Given the description of an element on the screen output the (x, y) to click on. 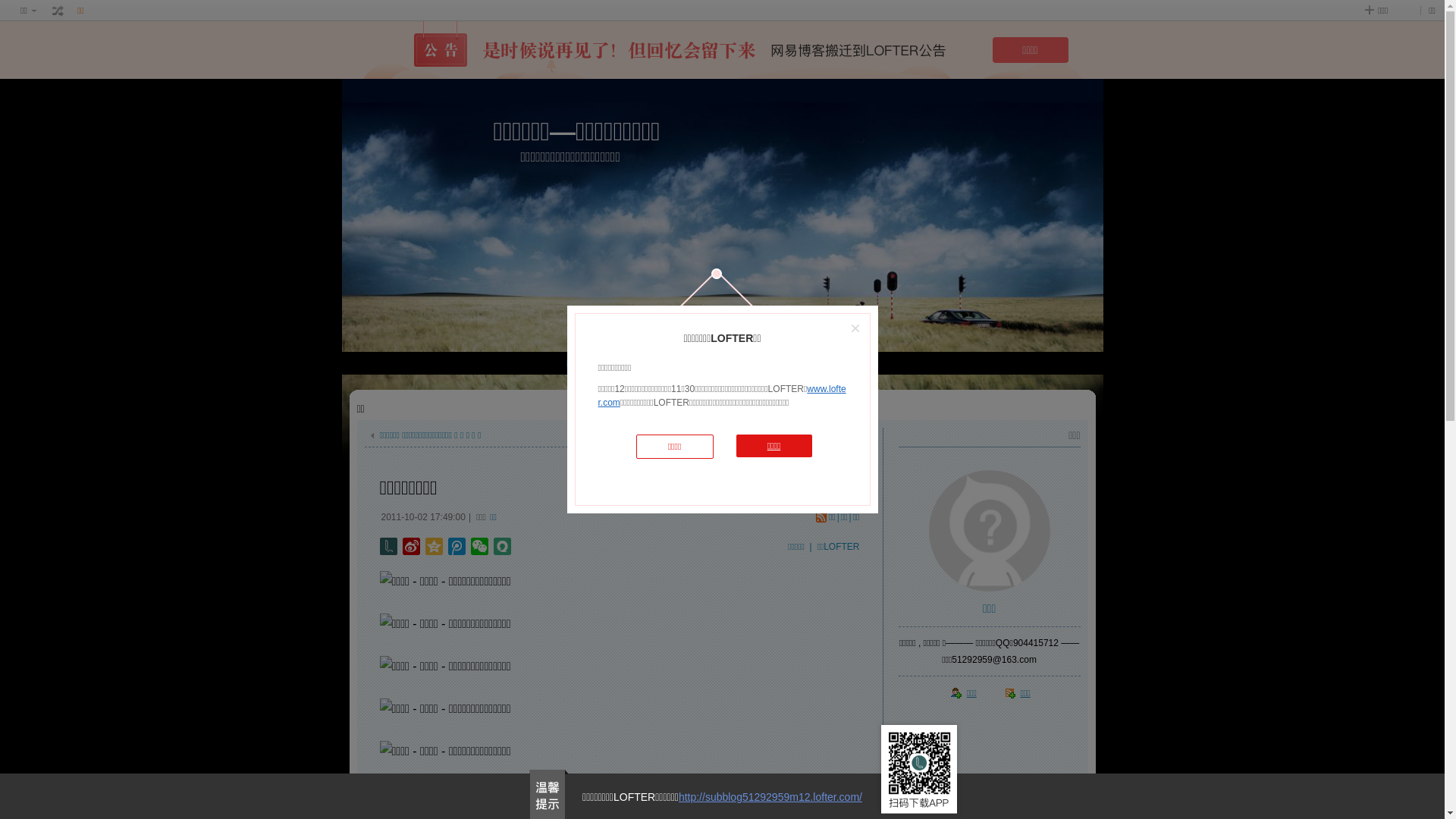
  Element type: text (58, 10)
http://subblog51292959m12.lofter.com/ Element type: text (770, 796)
LOFTER Element type: text (665, 362)
www.lofter.com Element type: text (721, 395)
